Given the description of an element on the screen output the (x, y) to click on. 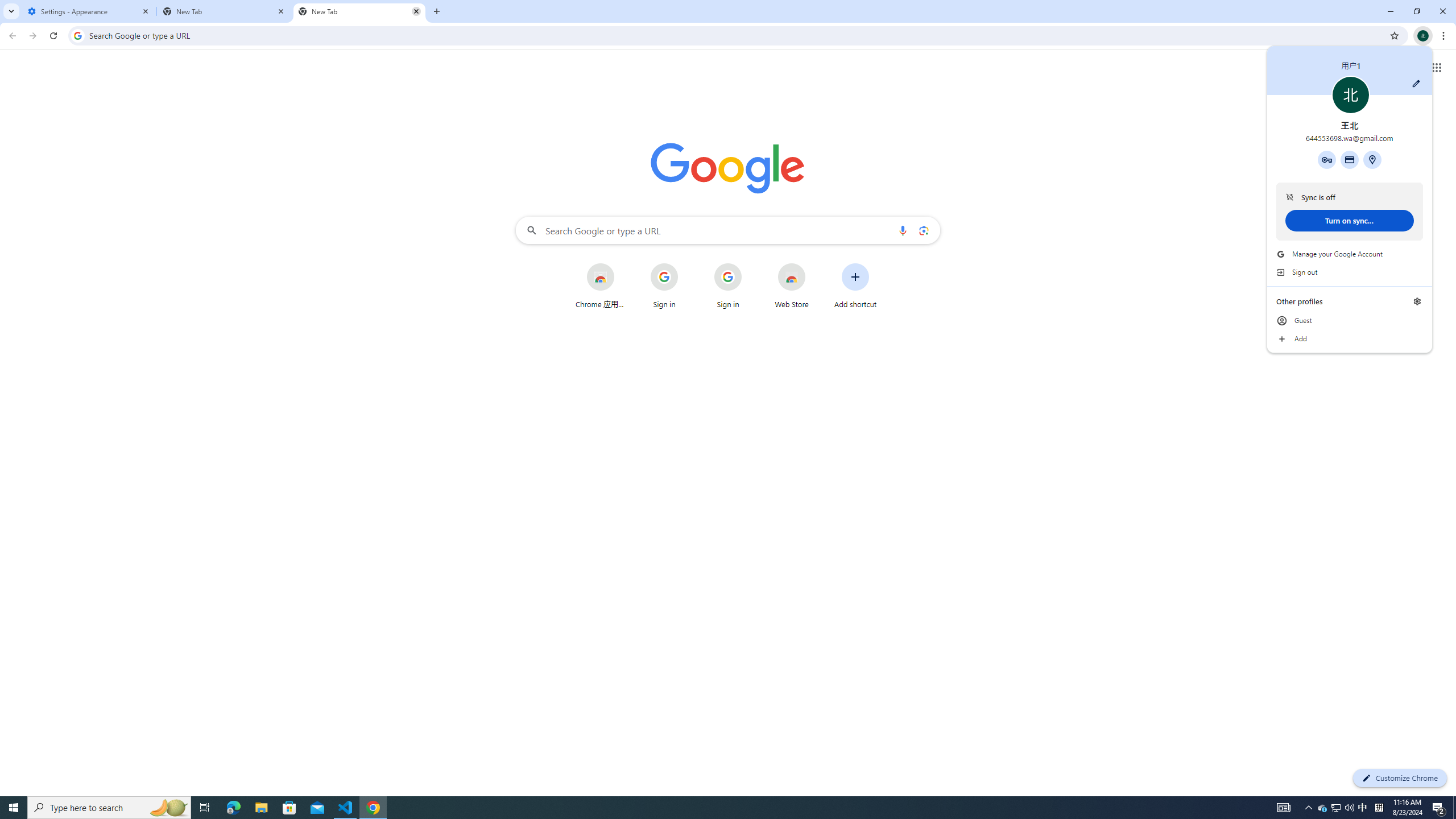
New Tab (359, 11)
Notification Chevron (1308, 807)
Start (13, 807)
Web Store (792, 285)
Google Chrome - 1 running window (373, 807)
Guest (1349, 321)
File Explorer (261, 807)
